Given the description of an element on the screen output the (x, y) to click on. 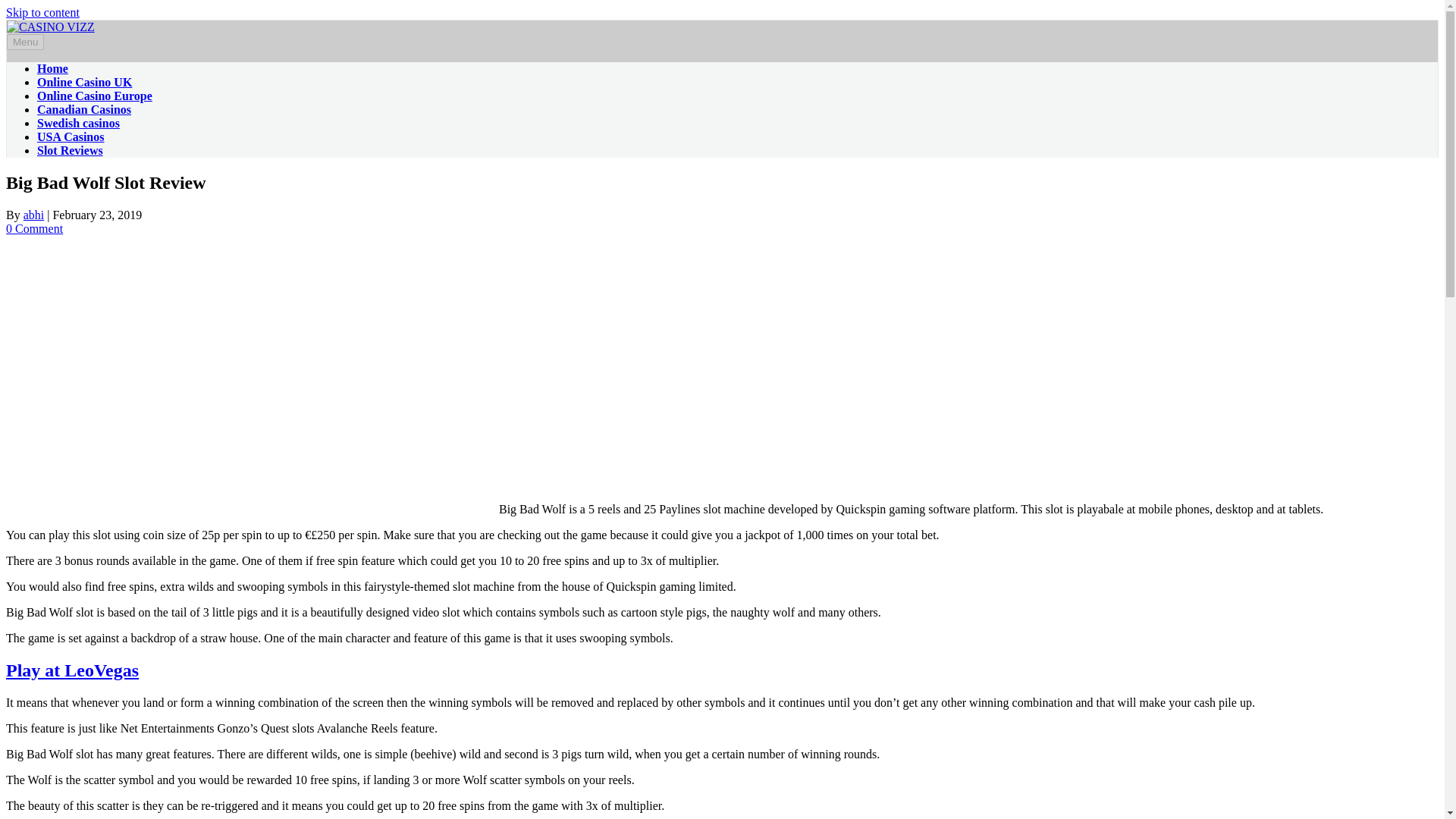
Swedish casinos (78, 123)
Online Casino UK (84, 82)
abhi (34, 214)
Home (52, 68)
Play at LeoVegas (71, 670)
USA Casinos (70, 136)
Canadian Casinos (84, 109)
Skip to content (42, 11)
0 Comment (33, 228)
Skip to content (42, 11)
